Given the description of an element on the screen output the (x, y) to click on. 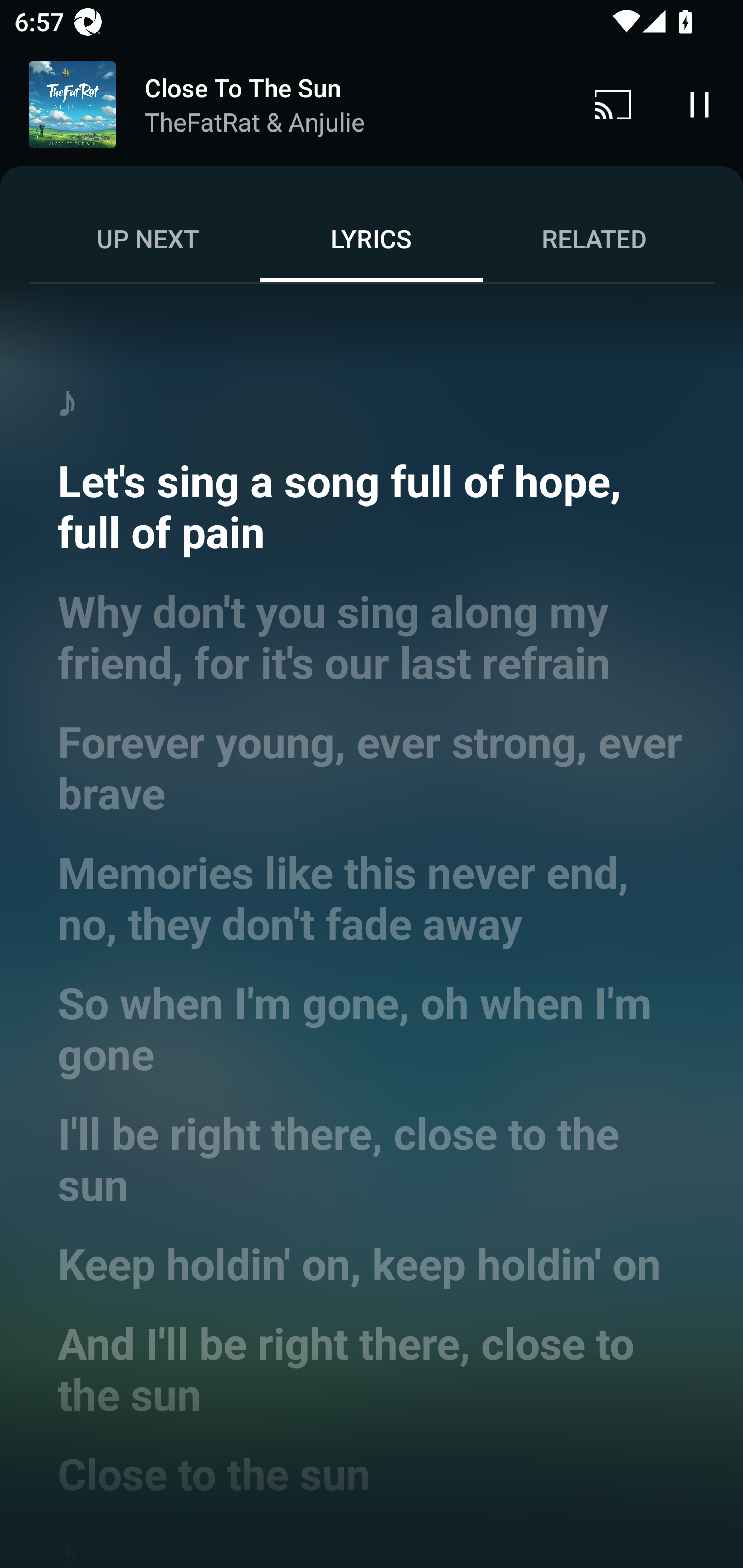
Close To The Sun TheFatRat & Anjulie (284, 104)
Search (605, 86)
Account (696, 86)
Up next UP NEXT (147, 238)
Related RELATED (594, 238)
